Given the description of an element on the screen output the (x, y) to click on. 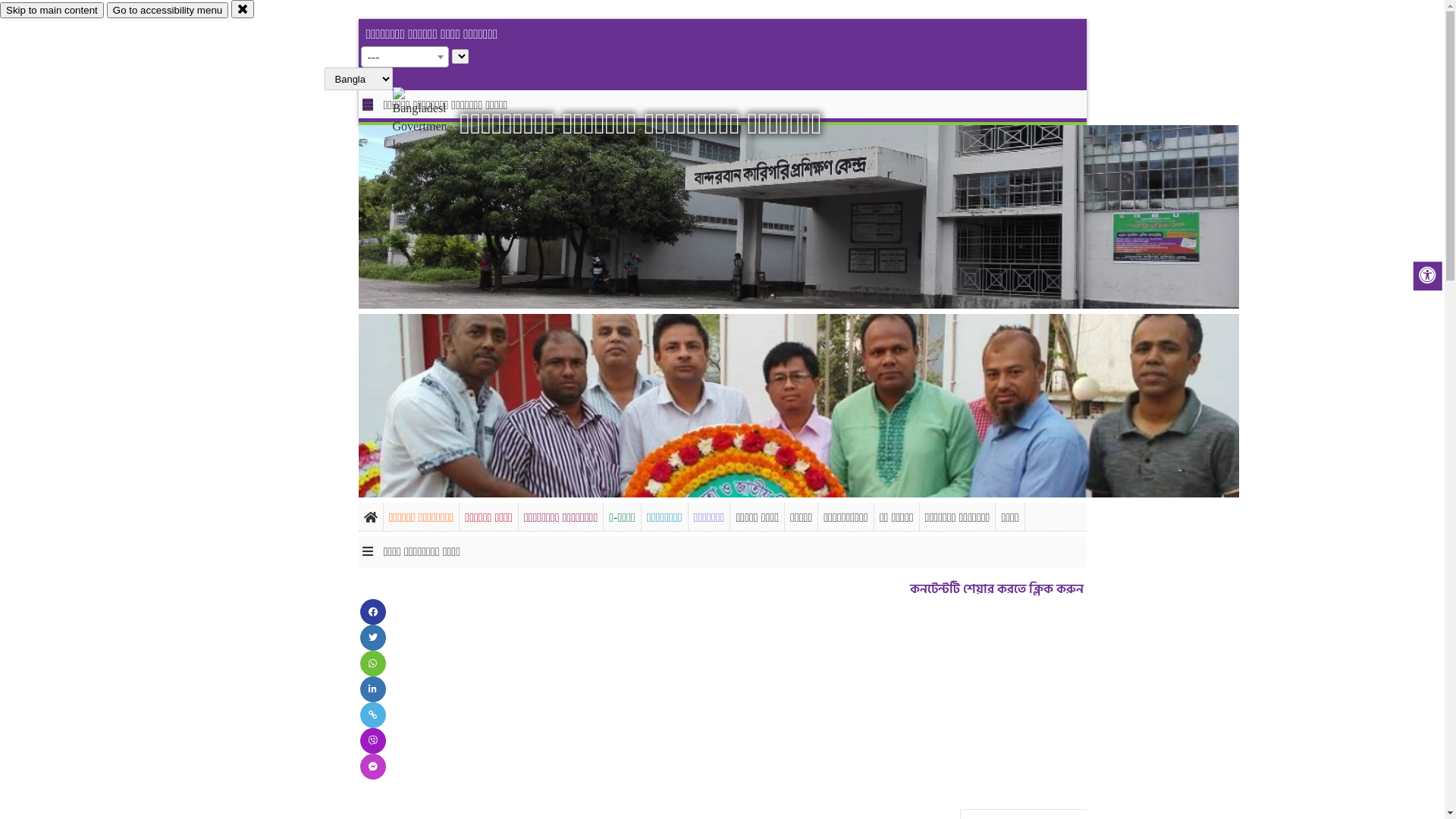
Skip to main content Element type: text (51, 10)
Go to accessibility menu Element type: text (167, 10)

                
             Element type: hover (431, 120)
close Element type: hover (242, 9)
